Given the description of an element on the screen output the (x, y) to click on. 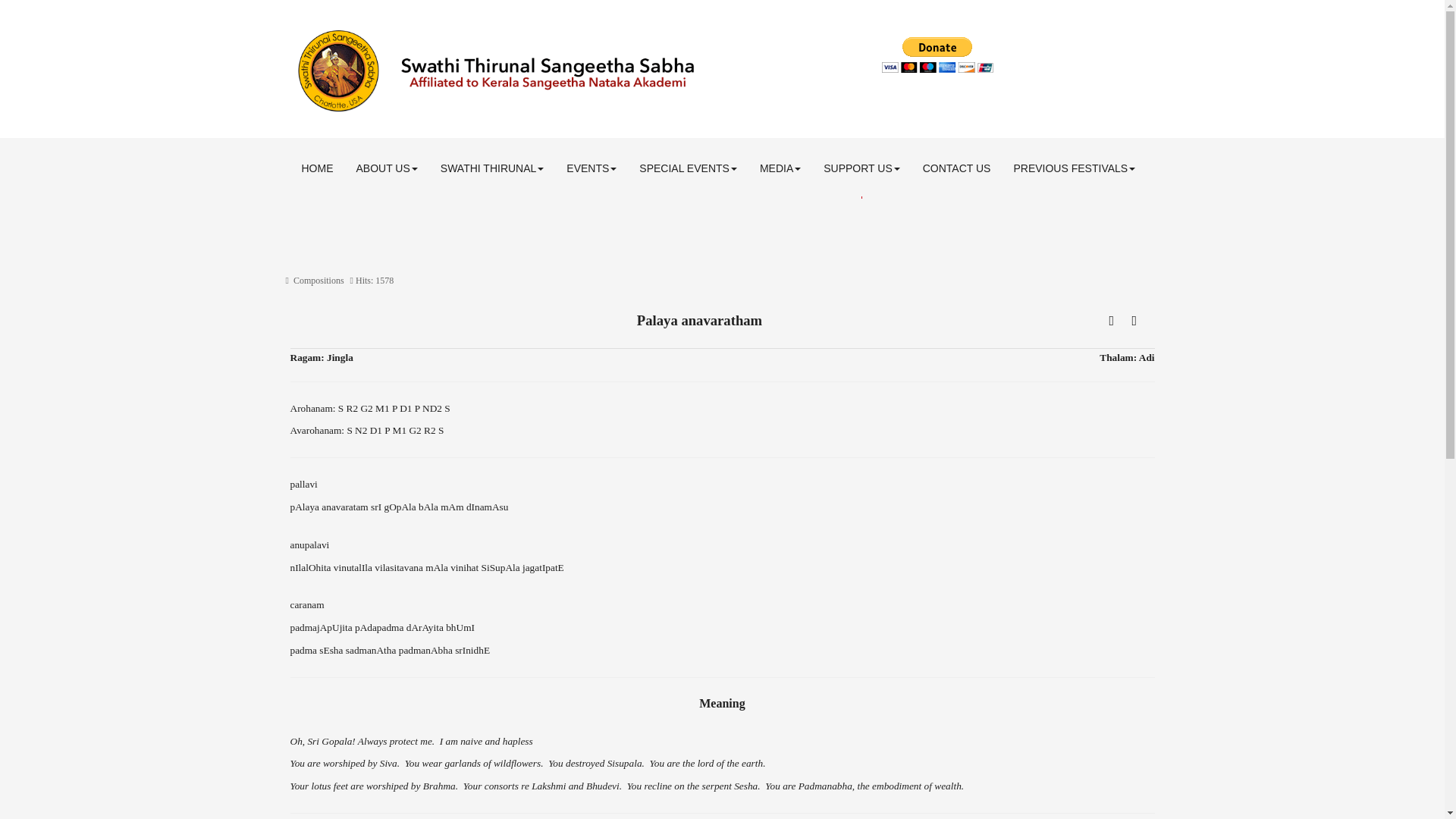
PayPal - The safer, easier way to pay online! (936, 54)
ABOUT US (385, 168)
HOME (316, 168)
Swathi Thirunal Sangeetha Sabha (574, 70)
Article Category (318, 280)
